Given the description of an element on the screen output the (x, y) to click on. 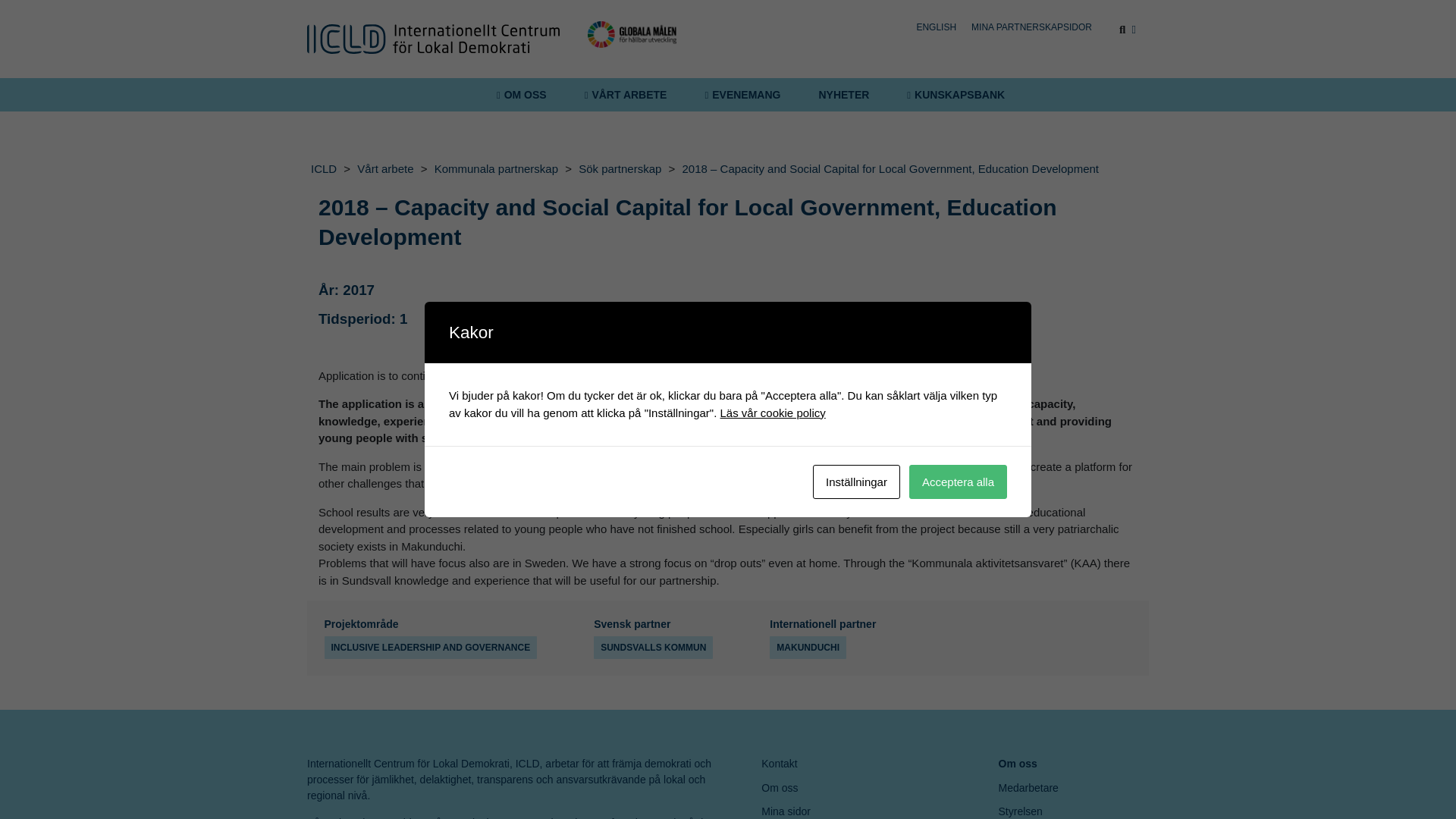
Go to Kommunala partnerskap. (496, 169)
MINA PARTNERSKAPSIDOR (1031, 26)
ENGLISH (935, 26)
OM OSS (520, 94)
Go to ICLD. (323, 168)
